Given the description of an element on the screen output the (x, y) to click on. 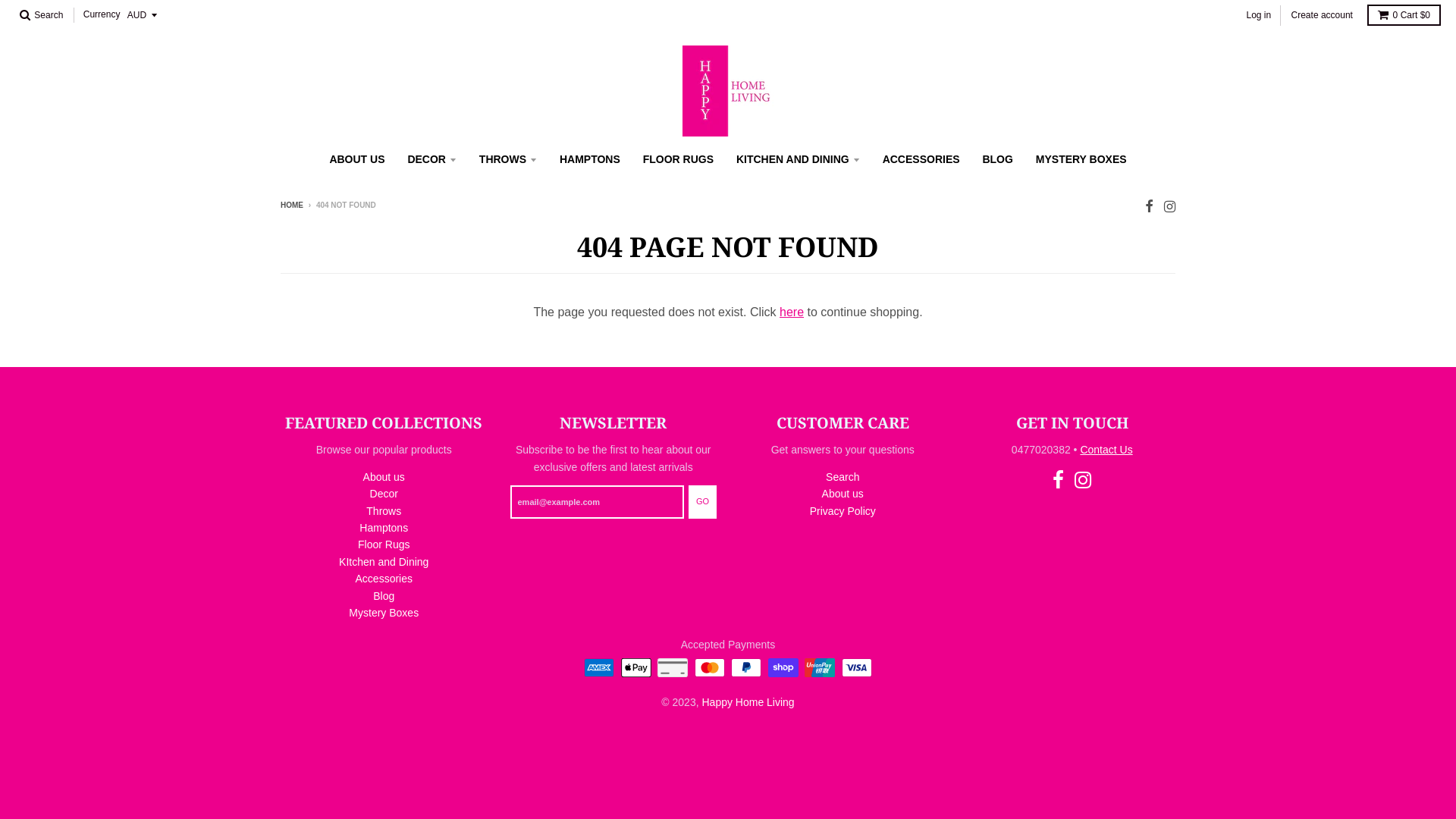
Hamptons Element type: text (383, 527)
DECOR Element type: text (431, 158)
FLOOR RUGS Element type: text (678, 158)
HAMPTONS Element type: text (589, 158)
Happy Home Living on Facebook Element type: hover (1057, 480)
Log in Element type: text (1258, 14)
Blog Element type: text (383, 595)
Contact Us Element type: text (1105, 449)
ACCESSORIES Element type: text (920, 158)
Floor Rugs Element type: text (383, 544)
BLOG Element type: text (997, 158)
Happy Home Living on Instagram Element type: hover (1083, 480)
Privacy Policy Element type: text (842, 511)
here Element type: text (791, 311)
Happy Home Living on Facebook Element type: hover (1149, 206)
Throws Element type: text (383, 511)
Create account Element type: text (1321, 14)
Search Element type: text (842, 476)
Decor Element type: text (384, 493)
MYSTERY BOXES Element type: text (1081, 158)
Mystery Boxes Element type: text (383, 612)
About us Element type: text (842, 493)
Happy Home Living Element type: text (747, 702)
HOME Element type: text (291, 204)
Happy Home Living on Instagram Element type: hover (1169, 206)
GO Element type: text (702, 501)
0 Cart $0 Element type: text (1403, 14)
KItchen and Dining Element type: text (383, 561)
Accessories Element type: text (383, 578)
THROWS Element type: text (507, 158)
Search Element type: text (41, 14)
KITCHEN AND DINING Element type: text (797, 158)
ABOUT US Element type: text (356, 158)
About us Element type: text (383, 476)
